Given the description of an element on the screen output the (x, y) to click on. 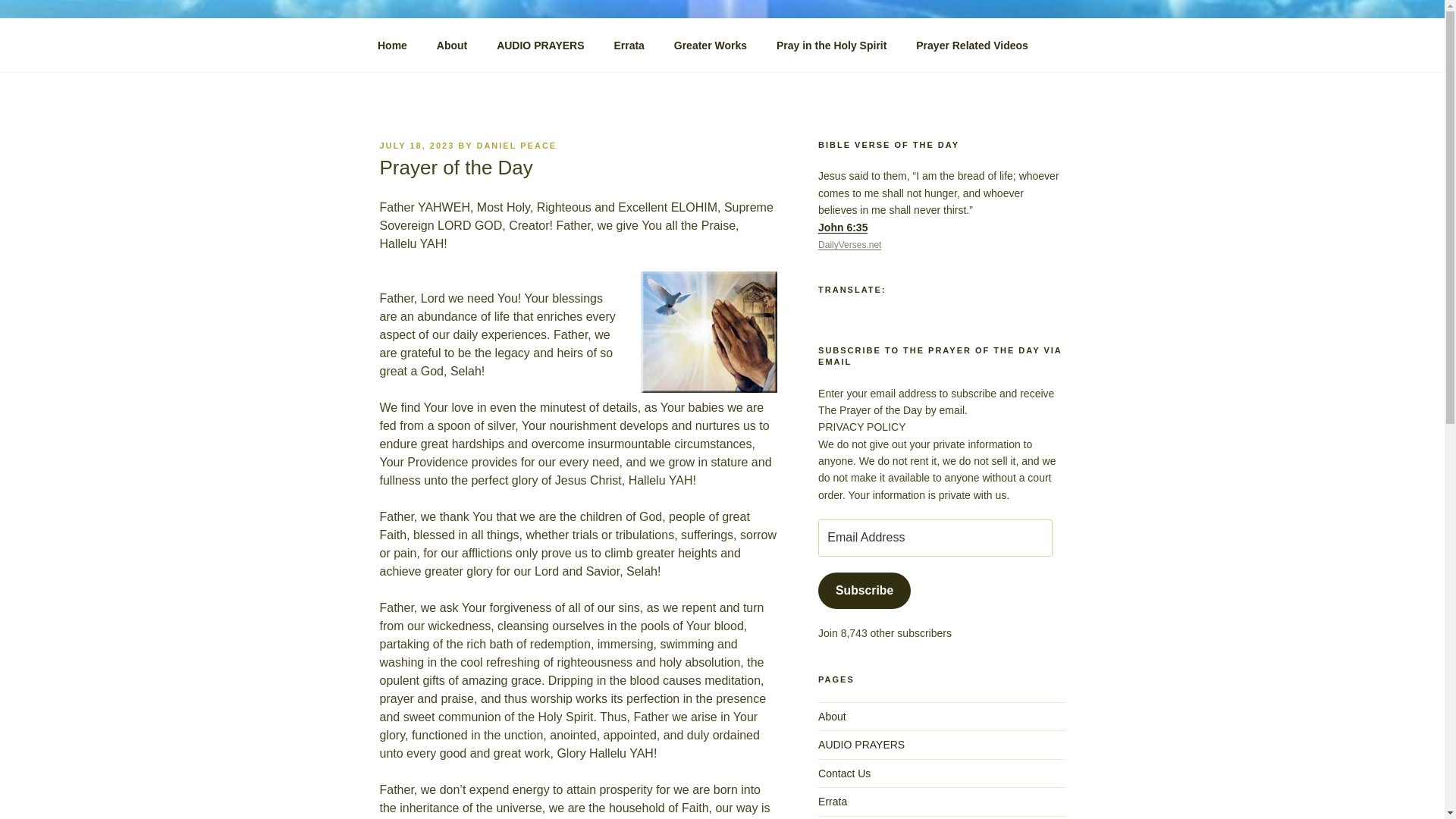
AUDIO PRAYERS (861, 744)
JULY 18, 2023 (416, 144)
DANIEL PEACE (516, 144)
AUDIO PRAYERS (539, 45)
Pray in the Holy Spirit (830, 45)
Home (392, 45)
Greater Works (710, 45)
DailyVerses.net (849, 244)
About (831, 716)
THE PRAYER OF THE DAY (573, 52)
Subscribe (864, 590)
Errata (628, 45)
John 6:35 (842, 227)
Errata (832, 801)
About (451, 45)
